Given the description of an element on the screen output the (x, y) to click on. 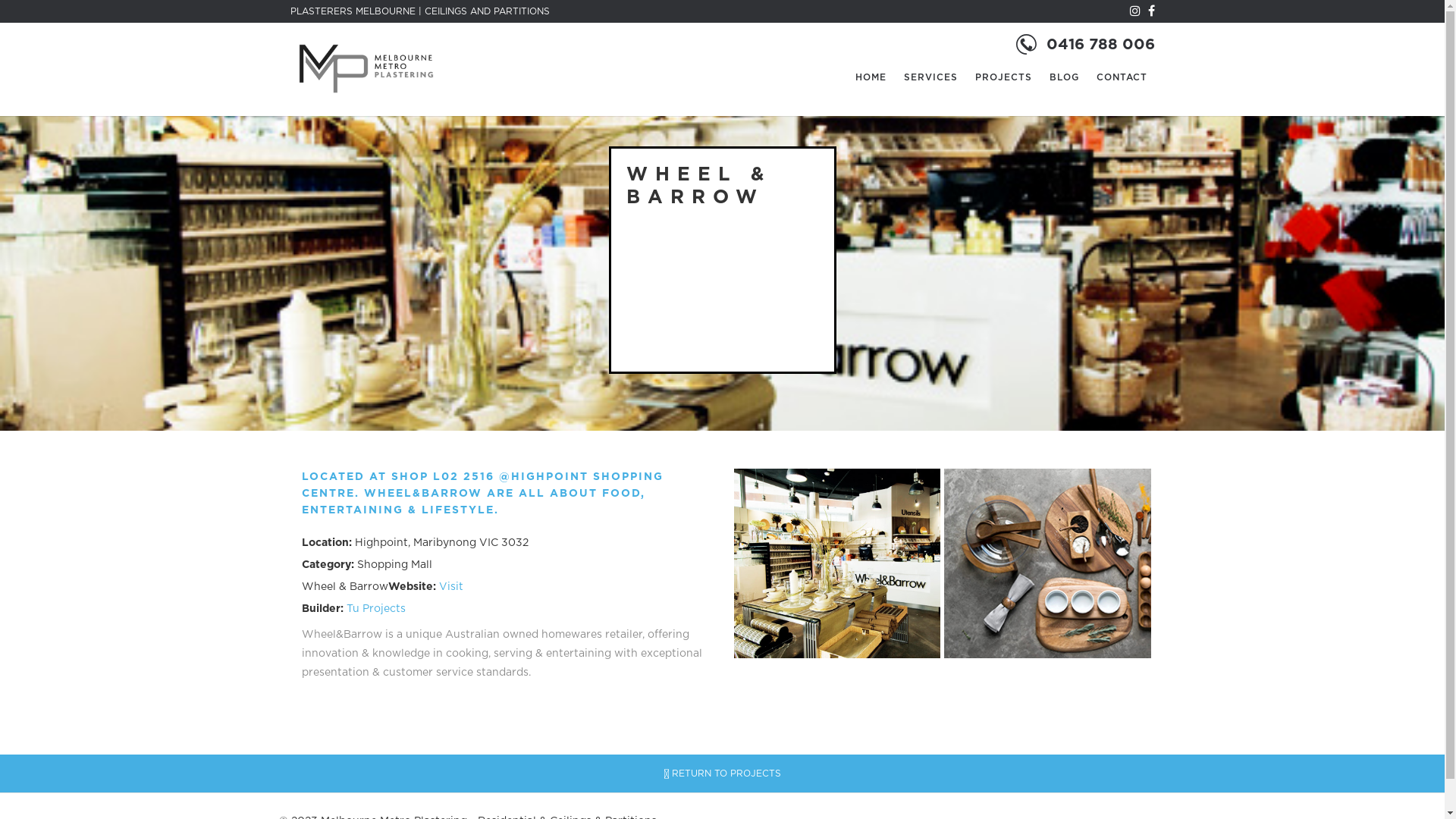
BLOG Element type: text (1063, 76)
HOME Element type: text (870, 76)
0416 788 006 Element type: text (1100, 44)
Visit Element type: text (450, 586)
SERVICES Element type: text (930, 76)
PROJECTS Element type: text (1003, 76)
Tu Projects Element type: text (374, 608)
CONTACT Element type: text (1121, 76)
